Given the description of an element on the screen output the (x, y) to click on. 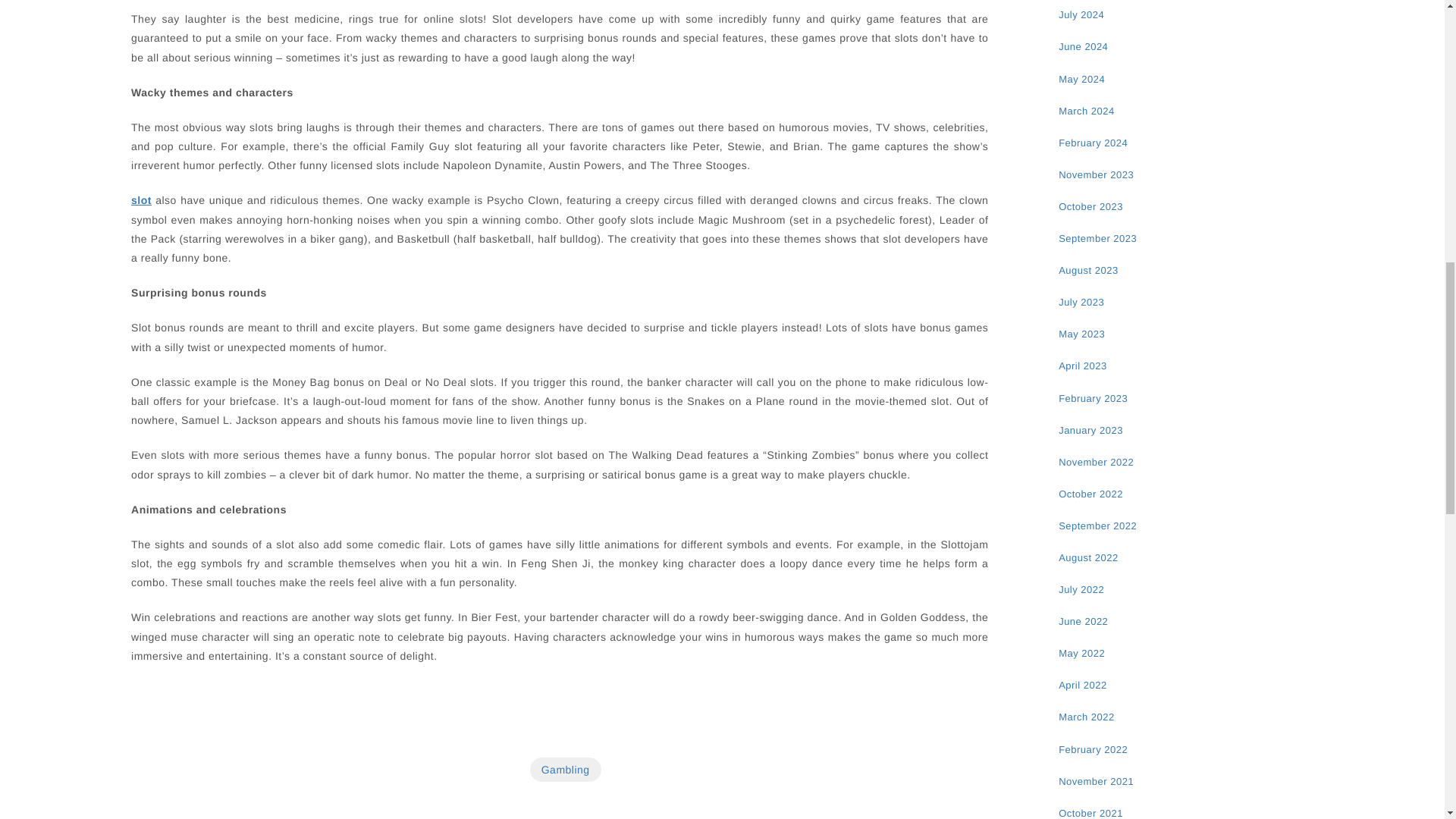
Gambling (565, 769)
slot (141, 199)
